Given the description of an element on the screen output the (x, y) to click on. 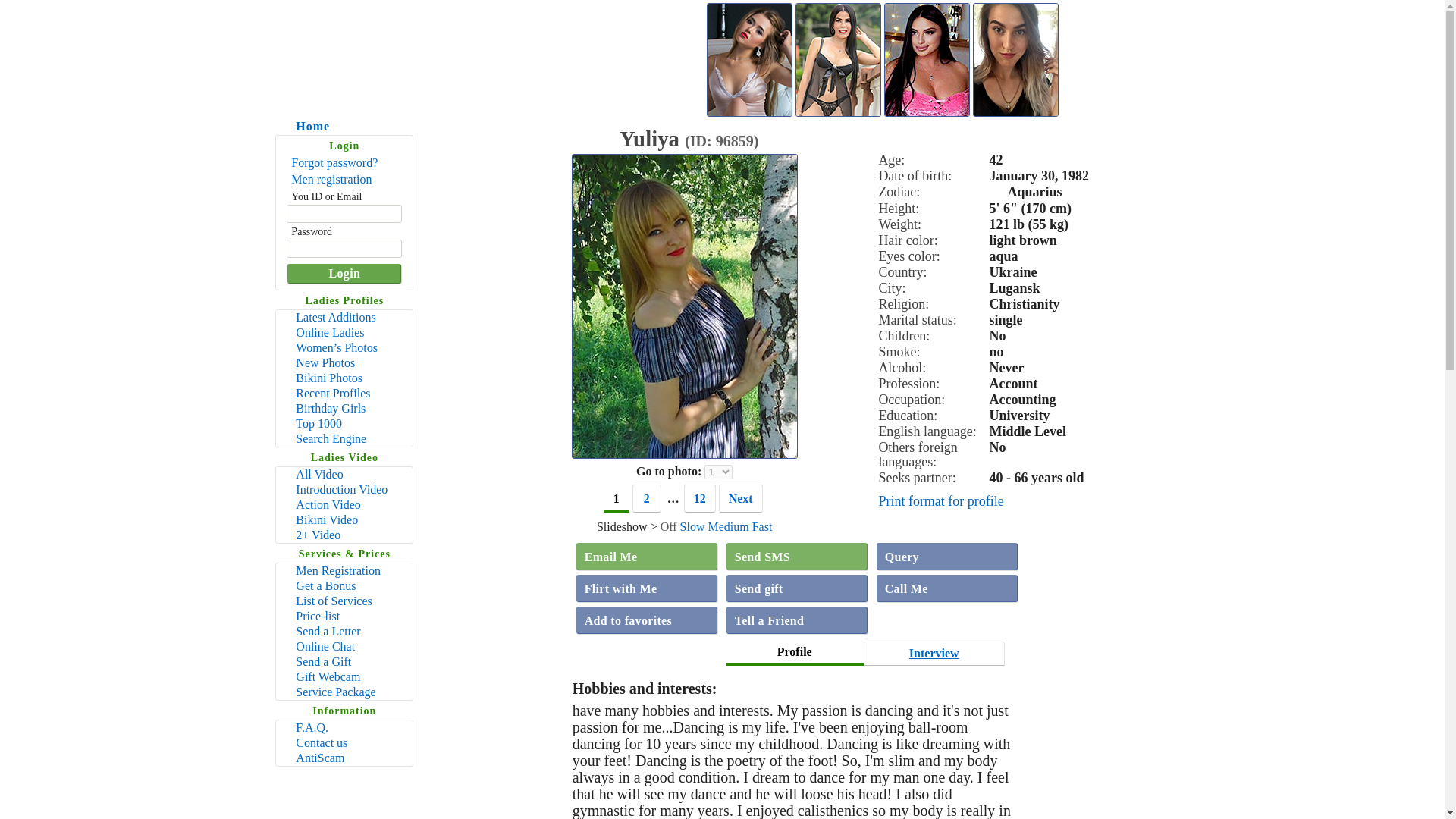
Men Registration (344, 570)
Action Video (344, 504)
Email Me (646, 556)
Recent Profiles (344, 393)
Send gift (796, 587)
Bikini Video (344, 519)
Top 1000 (344, 423)
Introduction Video (344, 489)
Service Package (344, 692)
Tell a Friend (796, 619)
All Video (344, 474)
12 (700, 498)
Bikini Photos (344, 378)
Latest Additions (344, 317)
Search Engine (344, 438)
